Given the description of an element on the screen output the (x, y) to click on. 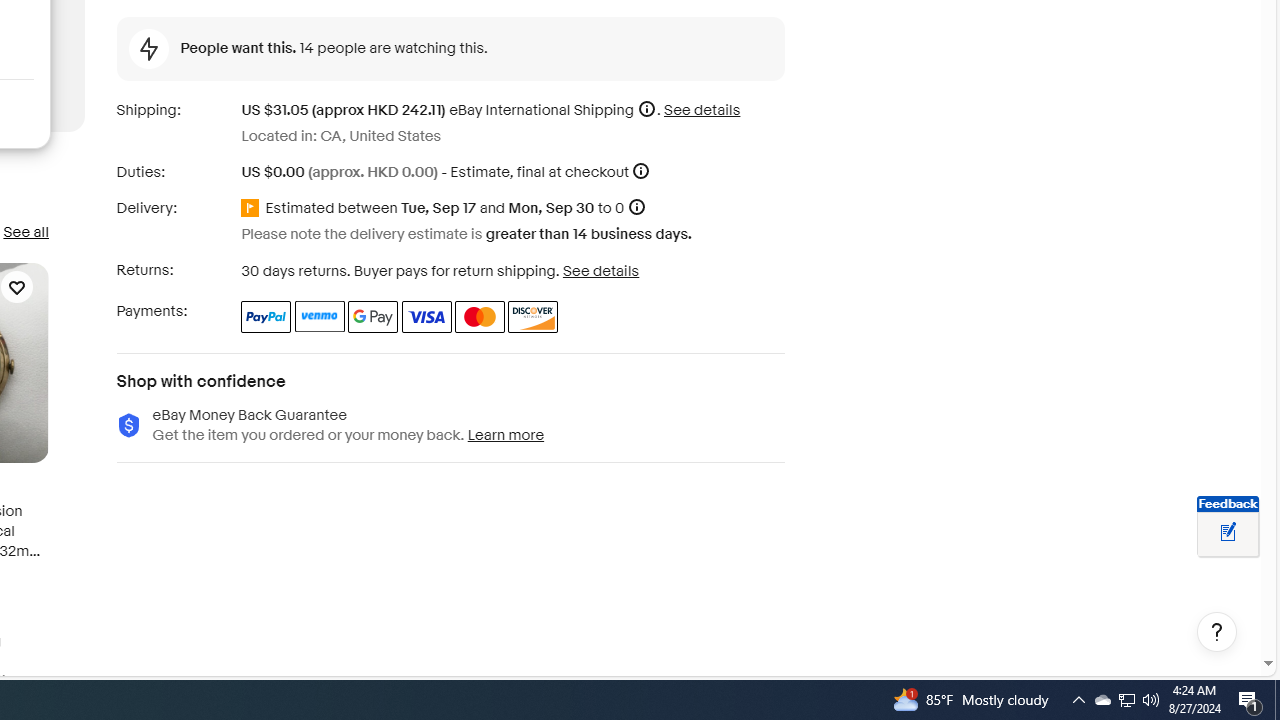
PayPal (265, 316)
See details for shipping (702, 110)
Leave feedback about your eBay ViewItem experience (1227, 533)
See all (25, 232)
Delivery alert flag (253, 209)
Google Pay (373, 316)
See details - for more information about returns (600, 270)
Help, opens dialogs (1217, 632)
Master Card (479, 316)
Venmo (319, 316)
Visa (425, 316)
